Given the description of an element on the screen output the (x, y) to click on. 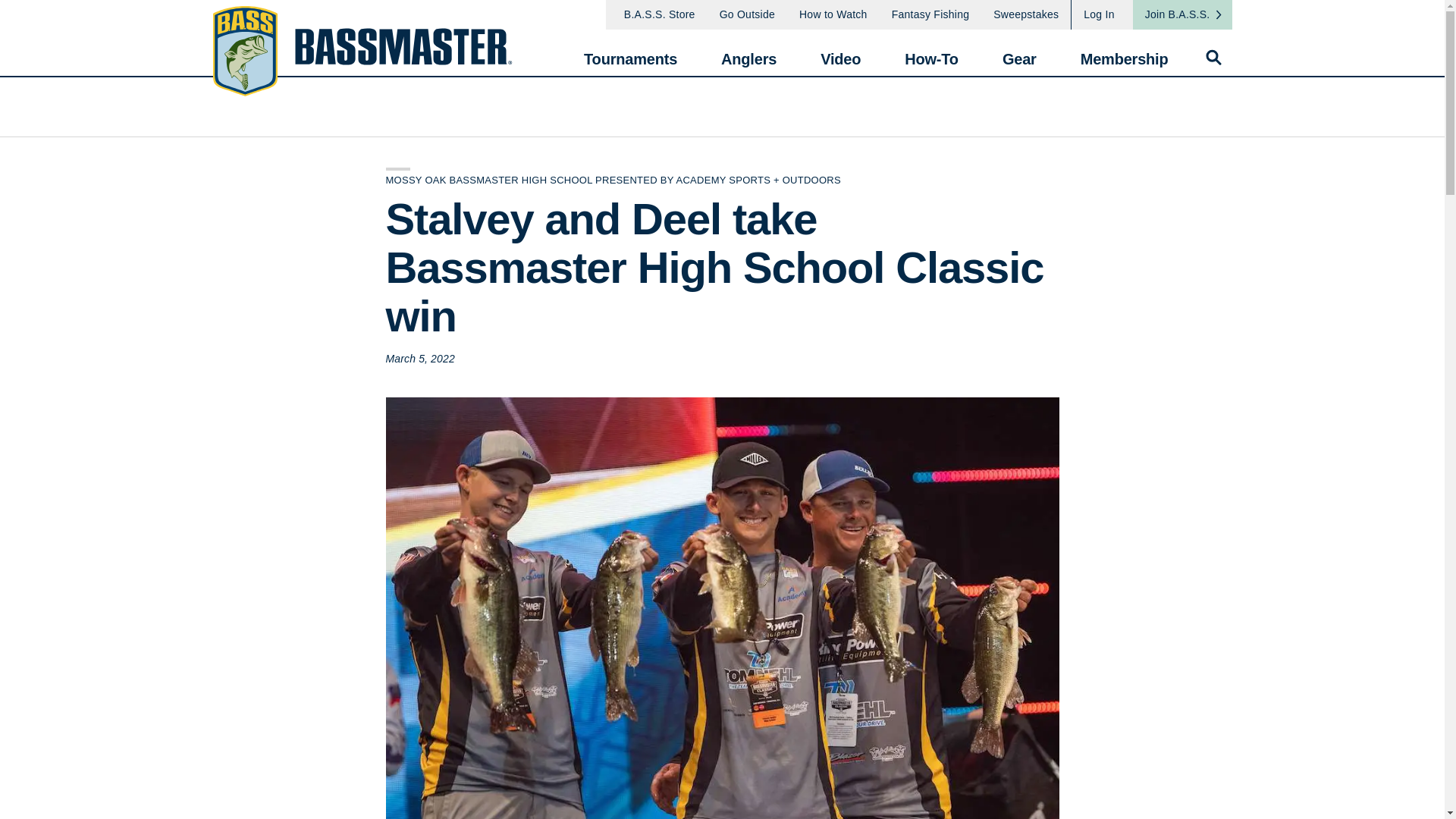
Anglers (748, 52)
Tournaments (630, 52)
Video (840, 52)
How-To (931, 52)
